Given the description of an element on the screen output the (x, y) to click on. 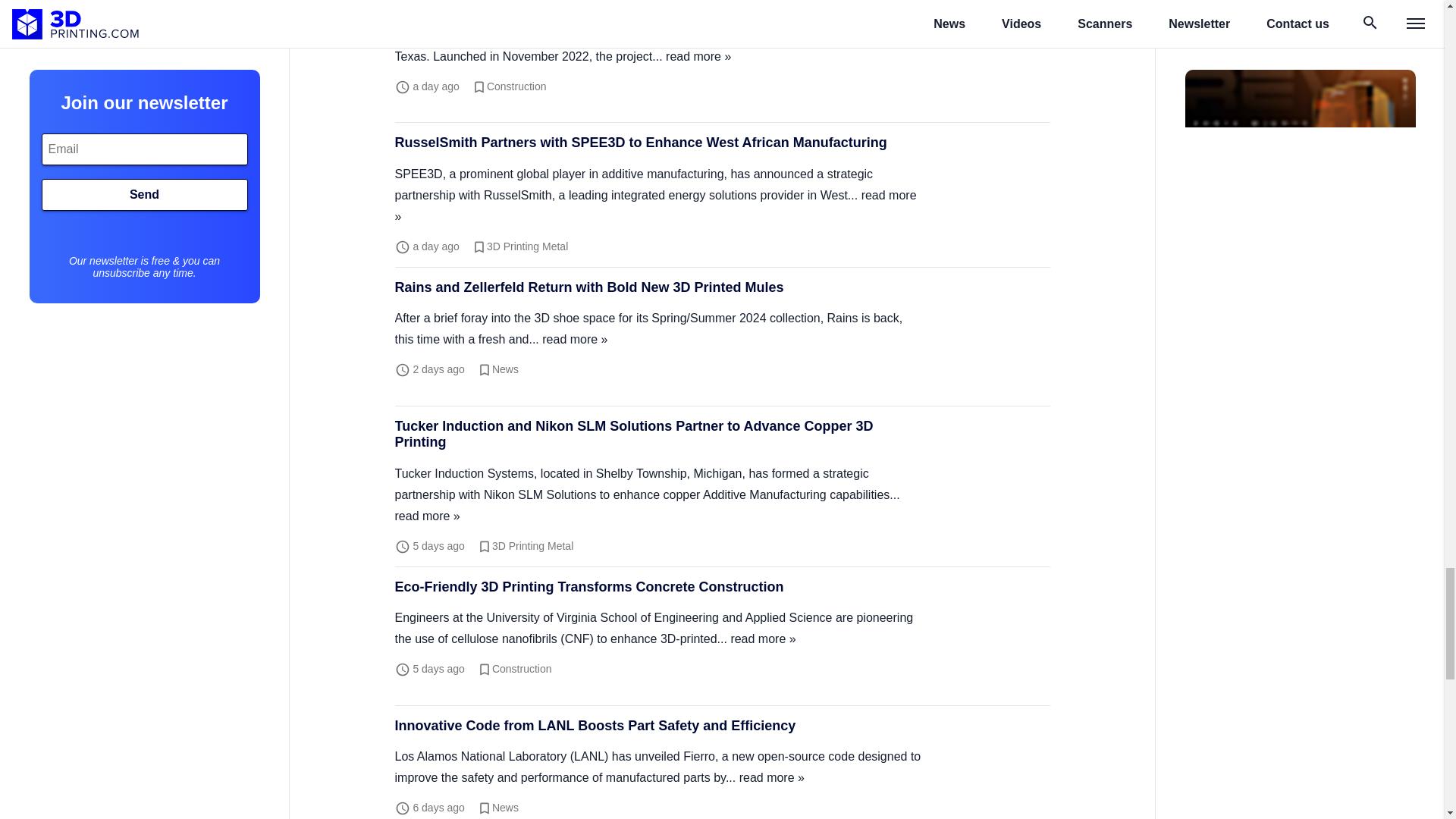
1723208426 (438, 545)
1723198524 (438, 668)
1723471444 (438, 369)
1723550409 (436, 85)
1723118428 (438, 807)
1723538990 (436, 245)
